Given the description of an element on the screen output the (x, y) to click on. 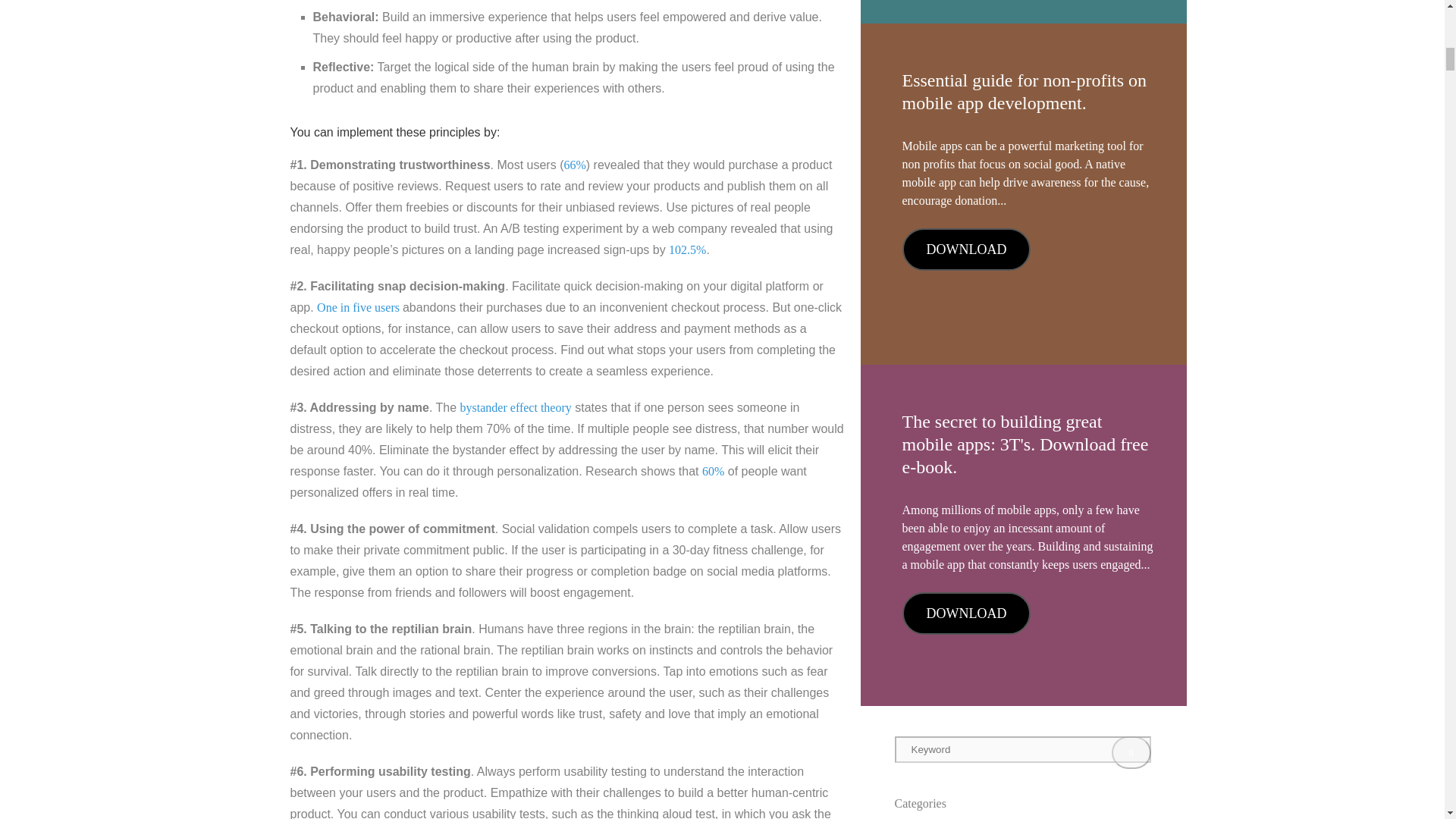
bystander effect theory (516, 406)
One in five users  (360, 306)
